Given the description of an element on the screen output the (x, y) to click on. 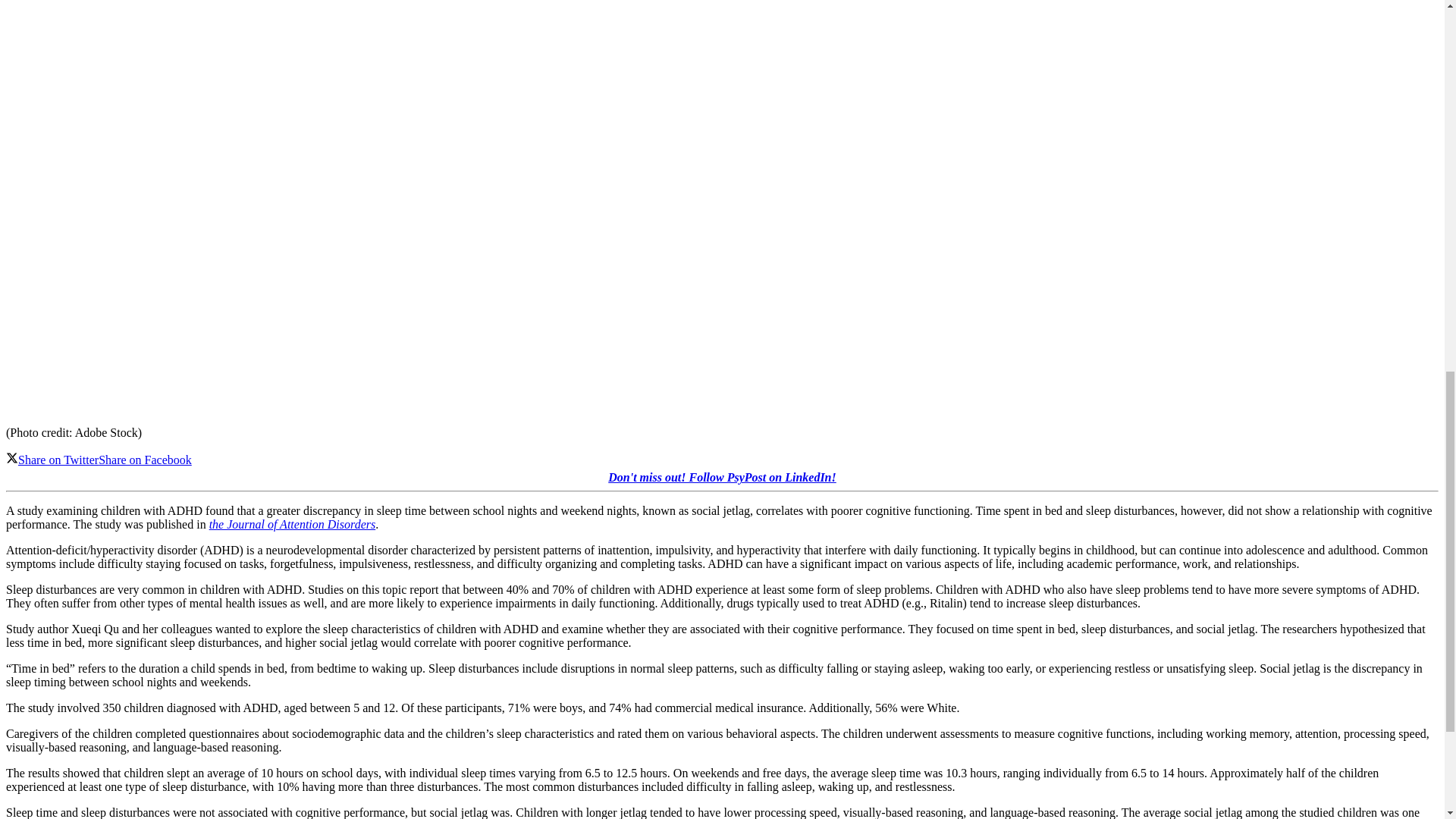
Share on Twitter (52, 459)
the Journal of Attention Disorders (292, 523)
Don't miss out! Follow PsyPost on LinkedIn! (721, 477)
Share on Facebook (145, 459)
